Given the description of an element on the screen output the (x, y) to click on. 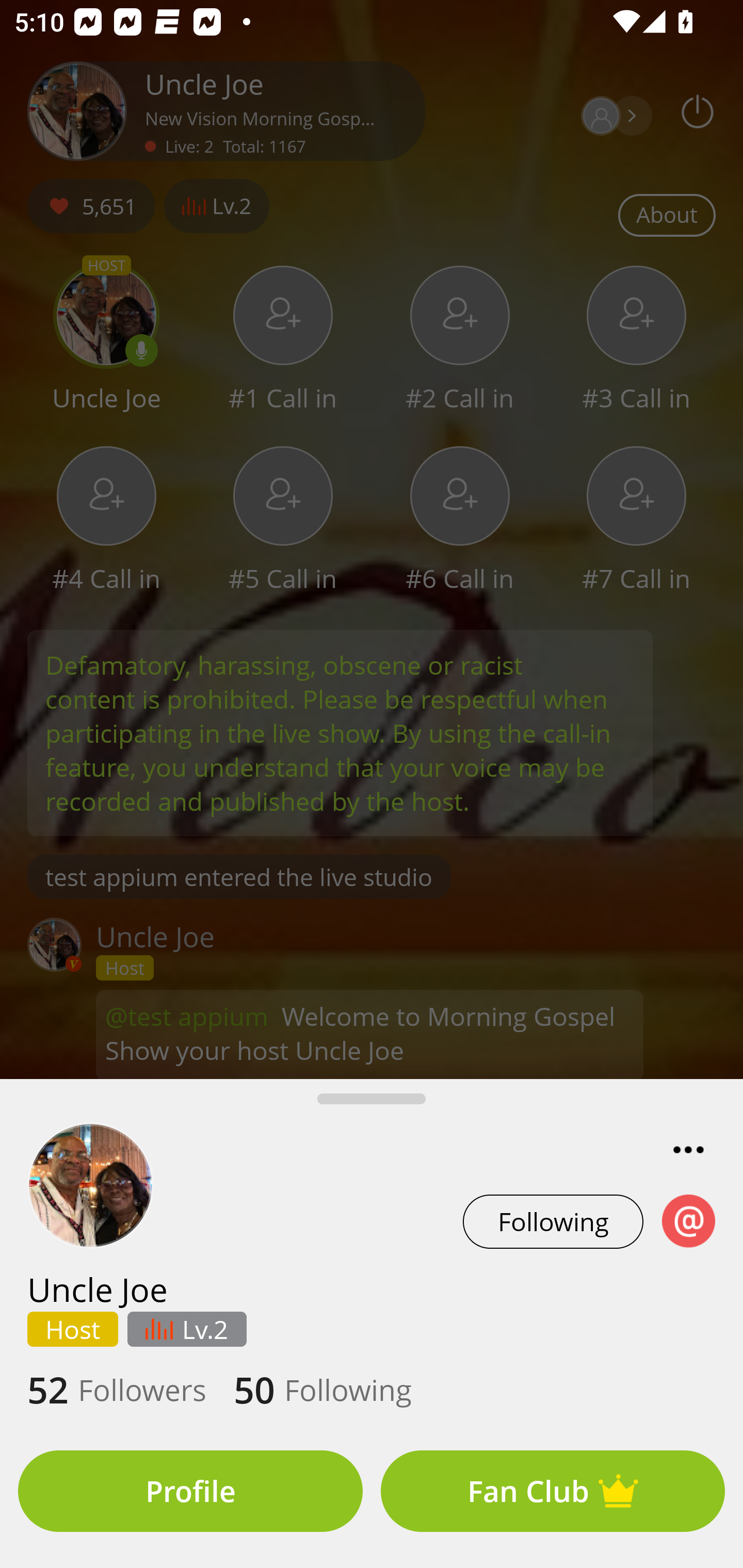
Following (552, 1221)
Profile (189, 1490)
Fan Club (552, 1490)
